Given the description of an element on the screen output the (x, y) to click on. 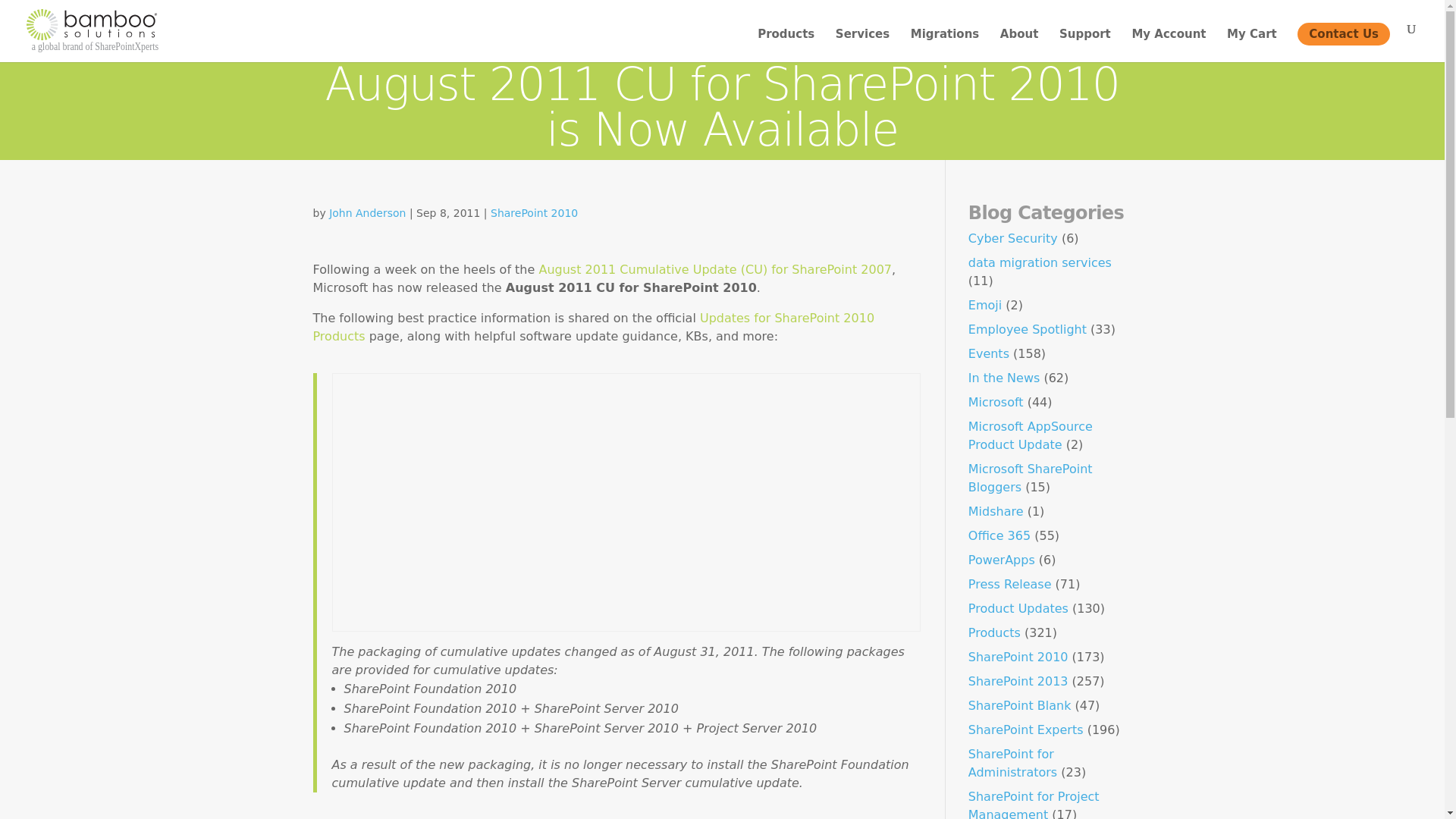
Services (862, 45)
Migrations (945, 45)
Posts by John Anderson (367, 213)
Products (785, 45)
